Given the description of an element on the screen output the (x, y) to click on. 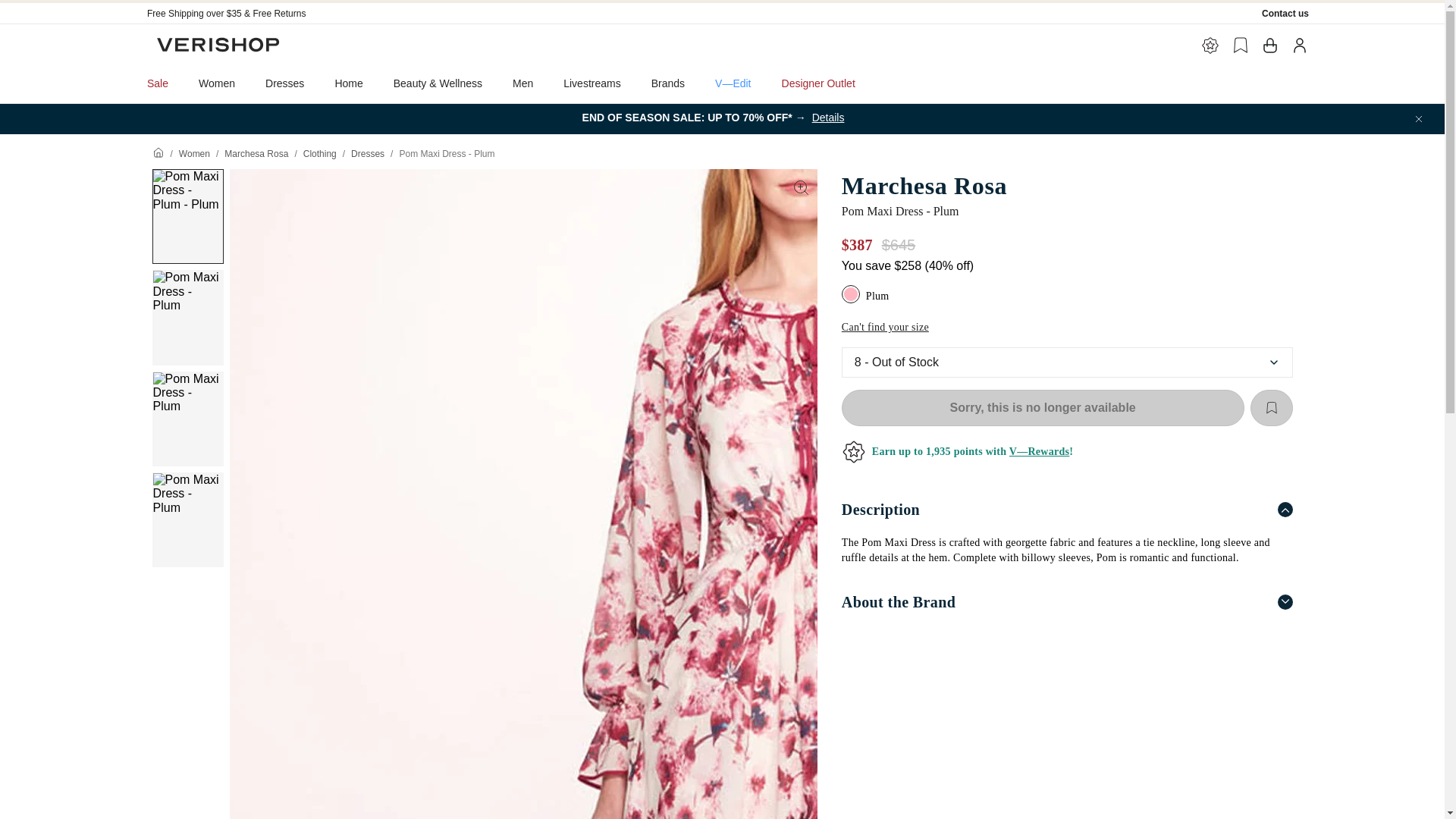
Clothing (319, 153)
Livestreams (591, 82)
Dresses (284, 82)
Designer Outlet (818, 82)
Marchesa Rosa (1066, 185)
Women (194, 153)
Free Returns (278, 13)
Contact us (1285, 13)
skip to main content (53, 6)
Plum (852, 295)
Contact us (1285, 13)
Can't find your size (884, 327)
Brands (668, 82)
Marchesa Rosa (256, 153)
Dresses (367, 153)
